Given the description of an element on the screen output the (x, y) to click on. 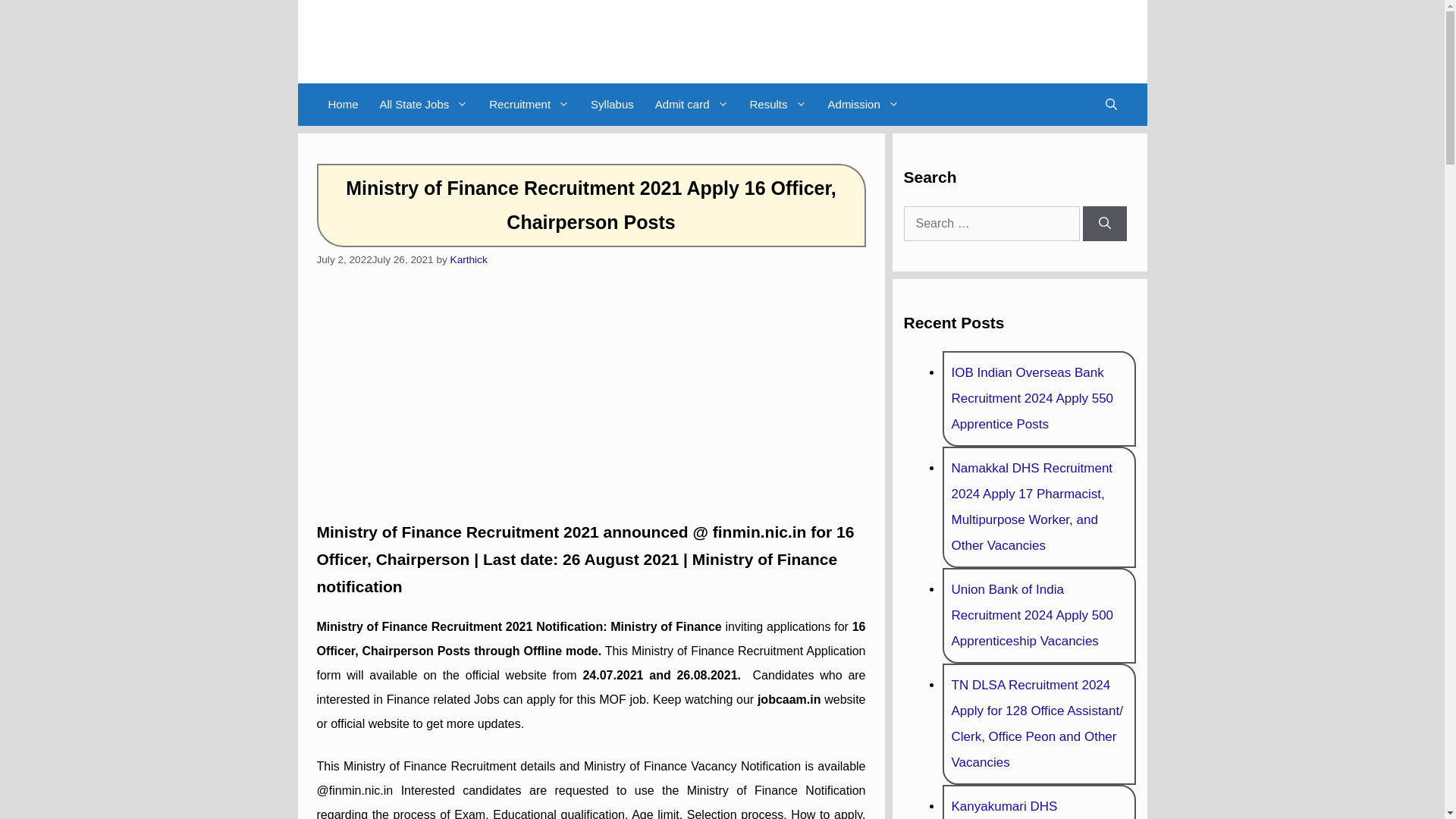
All State Jobs (424, 104)
View all posts by Karthick (468, 259)
Home (342, 104)
Search for: (992, 223)
